Given the description of an element on the screen output the (x, y) to click on. 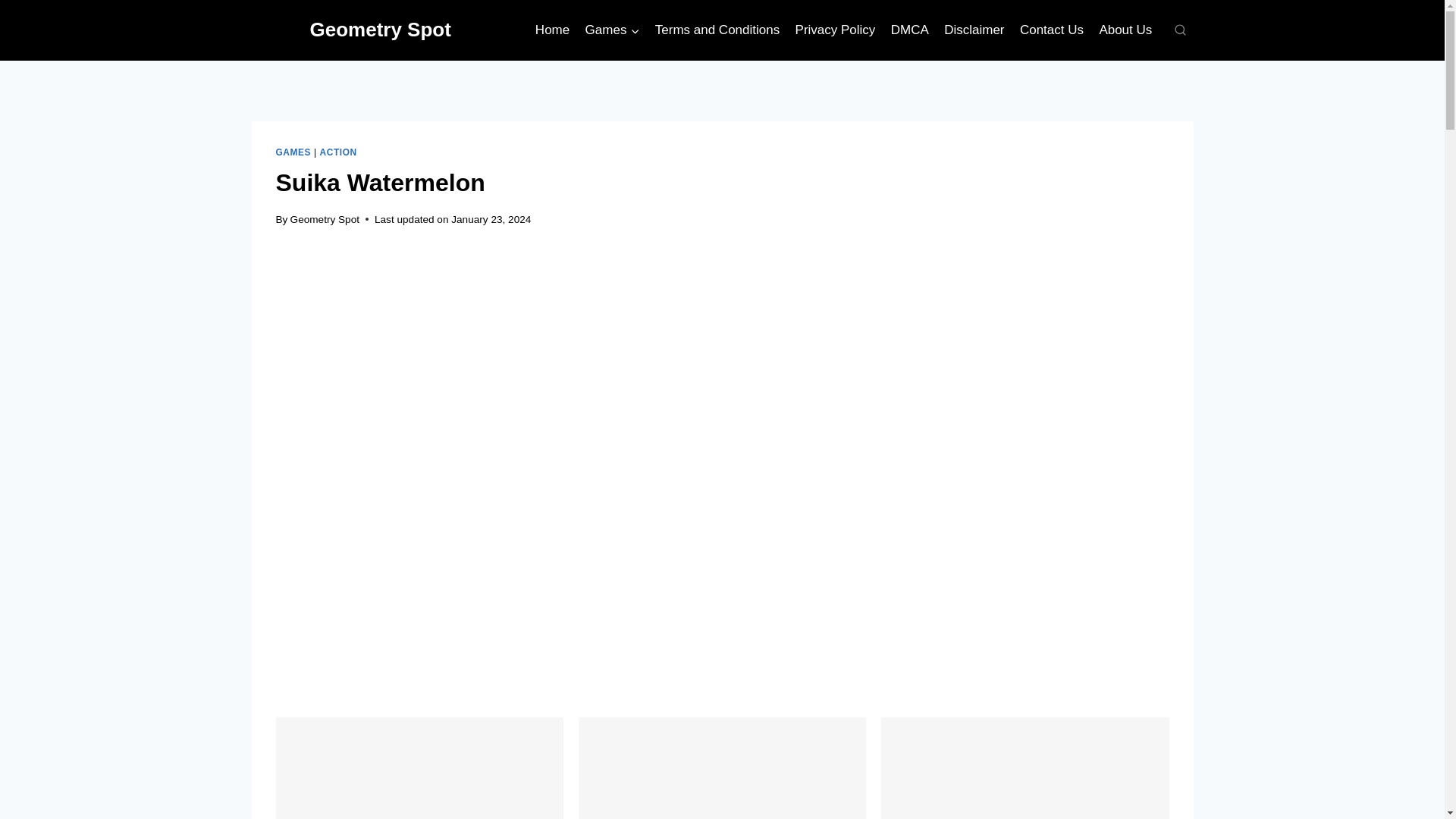
Privacy Policy (834, 30)
GAMES (293, 152)
DMCA (909, 30)
Terms and Conditions (717, 30)
Games (611, 30)
Geometry Spot (351, 30)
Geometry Spot (324, 219)
Contact Us (1050, 30)
About Us (1124, 30)
Home (552, 30)
ACTION (338, 152)
Disclaimer (973, 30)
